Given the description of an element on the screen output the (x, y) to click on. 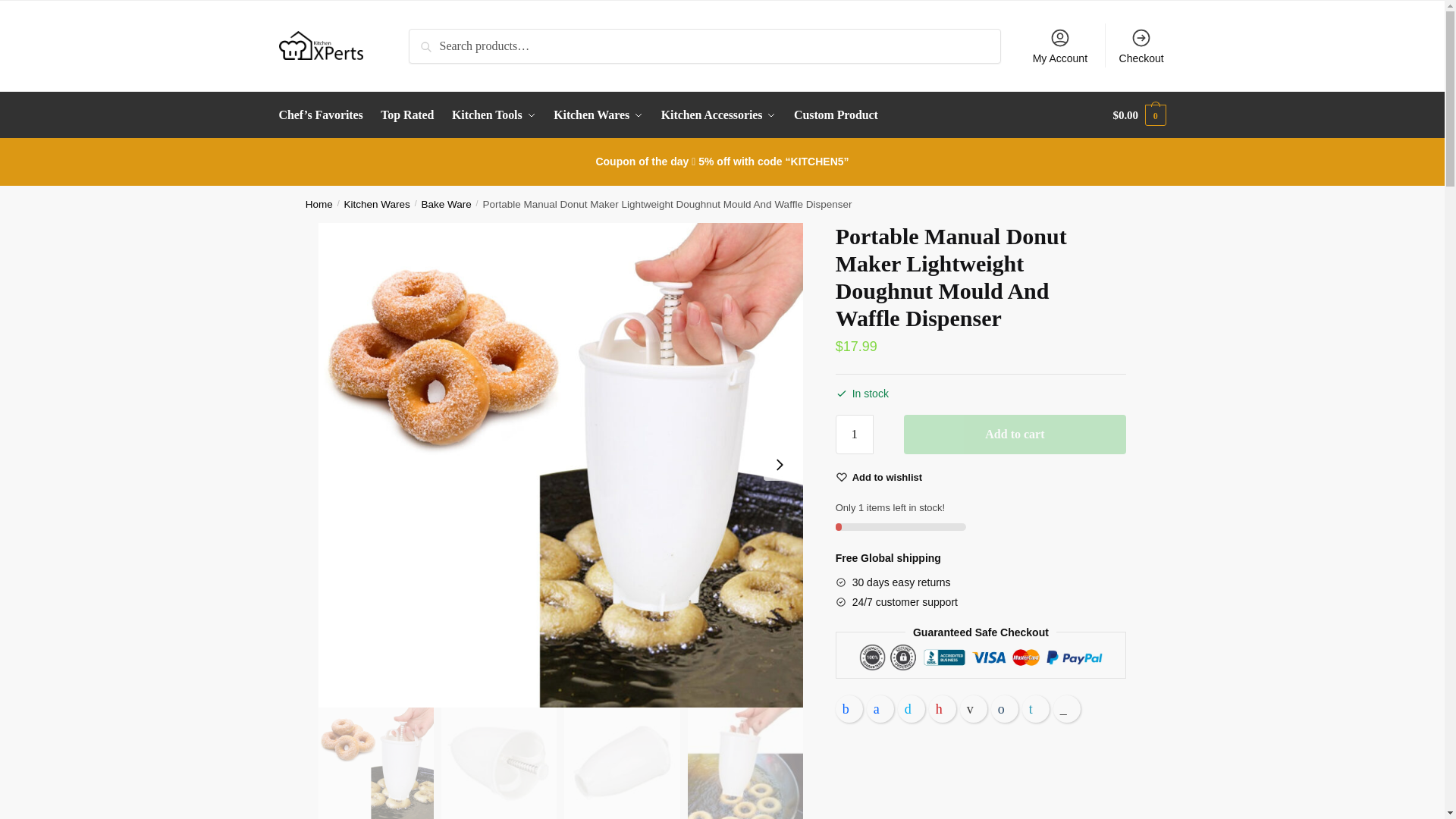
Kitchen Tools (493, 115)
Top Rated (407, 115)
My Account (1059, 45)
1 (854, 434)
Checkout (1141, 45)
Kitchen Wares (598, 115)
View your shopping cart (1139, 115)
